Given the description of an element on the screen output the (x, y) to click on. 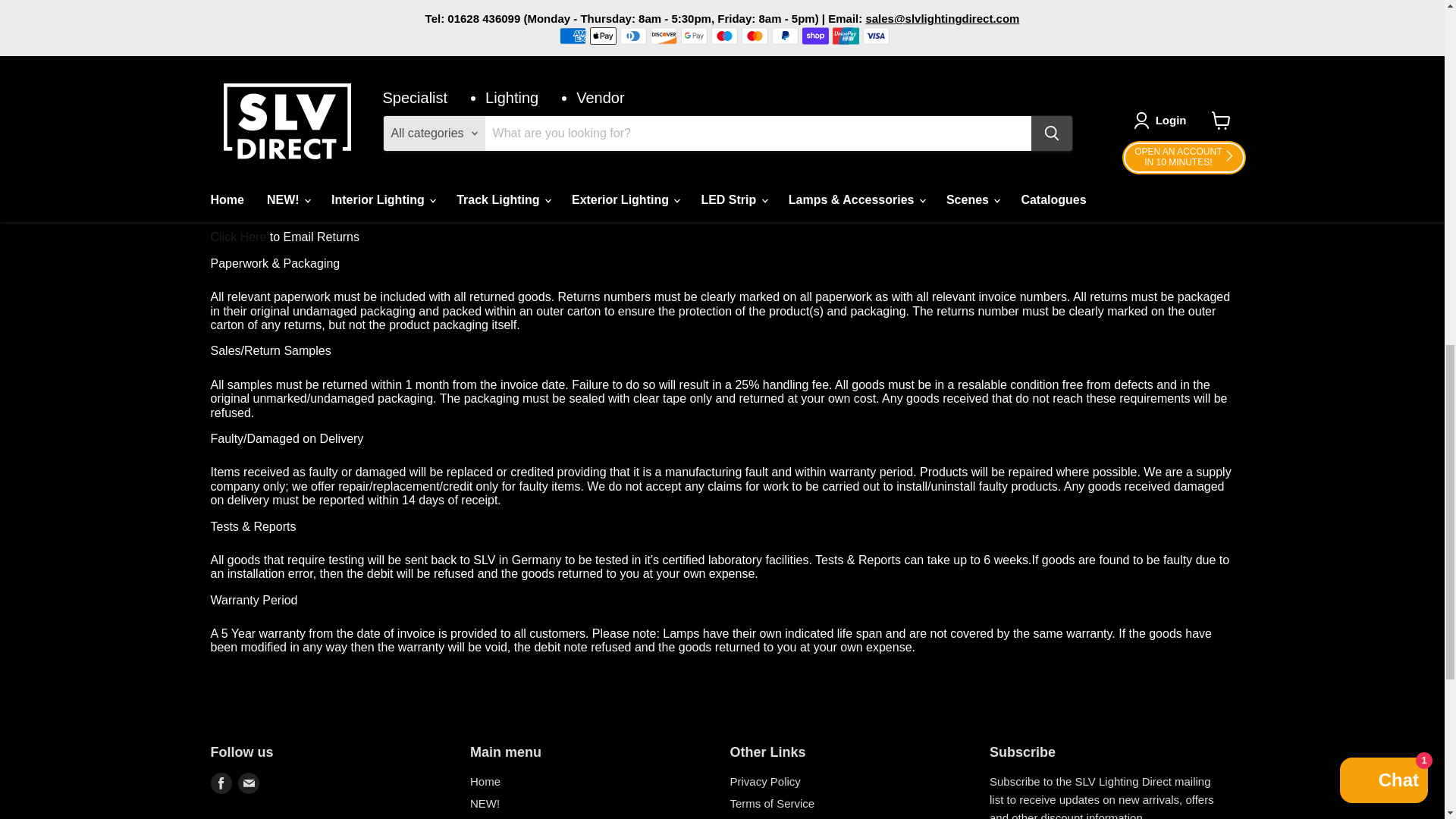
Facebook (221, 783)
Email (248, 783)
